Given the description of an element on the screen output the (x, y) to click on. 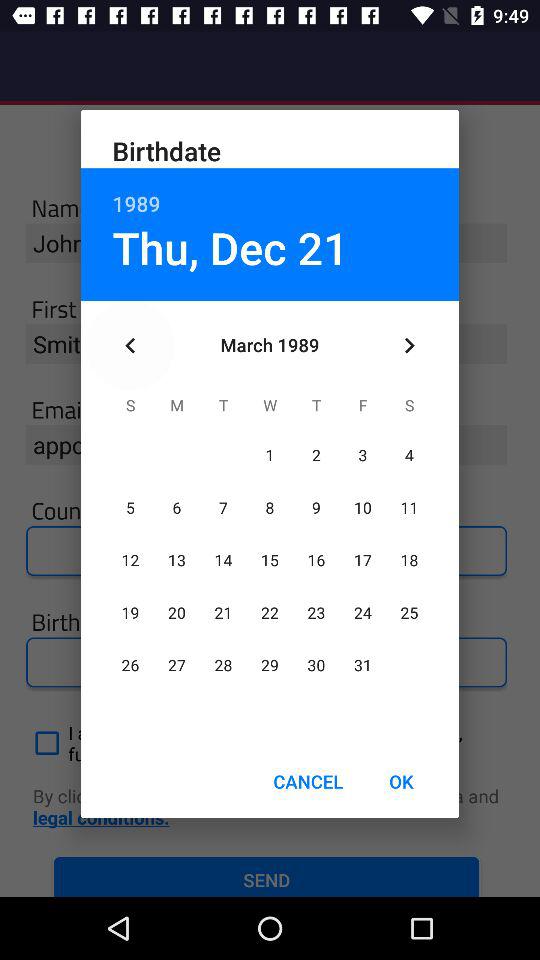
choose the thu, dec 21 icon (230, 247)
